Given the description of an element on the screen output the (x, y) to click on. 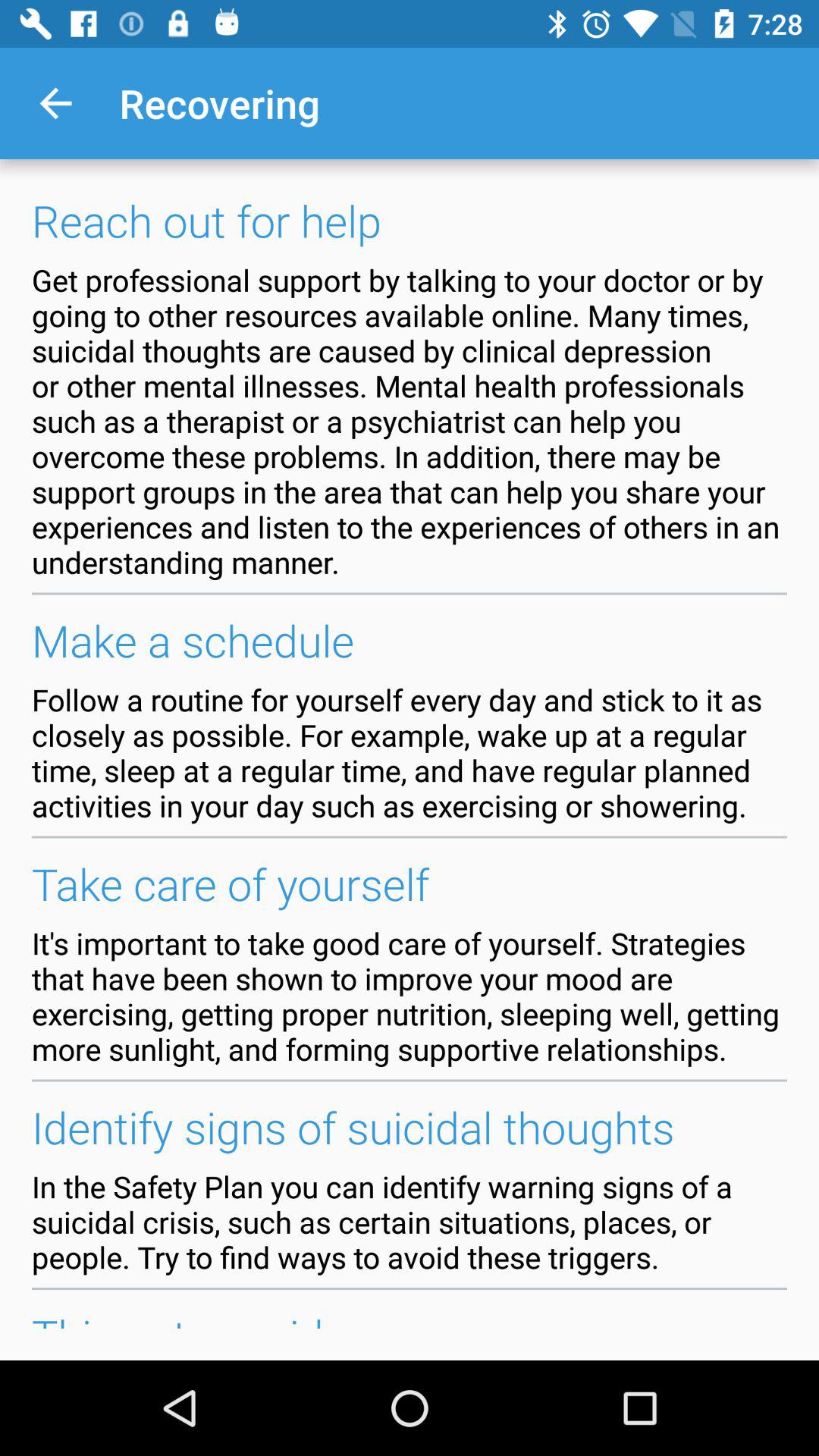
select the item above the reach out for icon (55, 103)
